Given the description of an element on the screen output the (x, y) to click on. 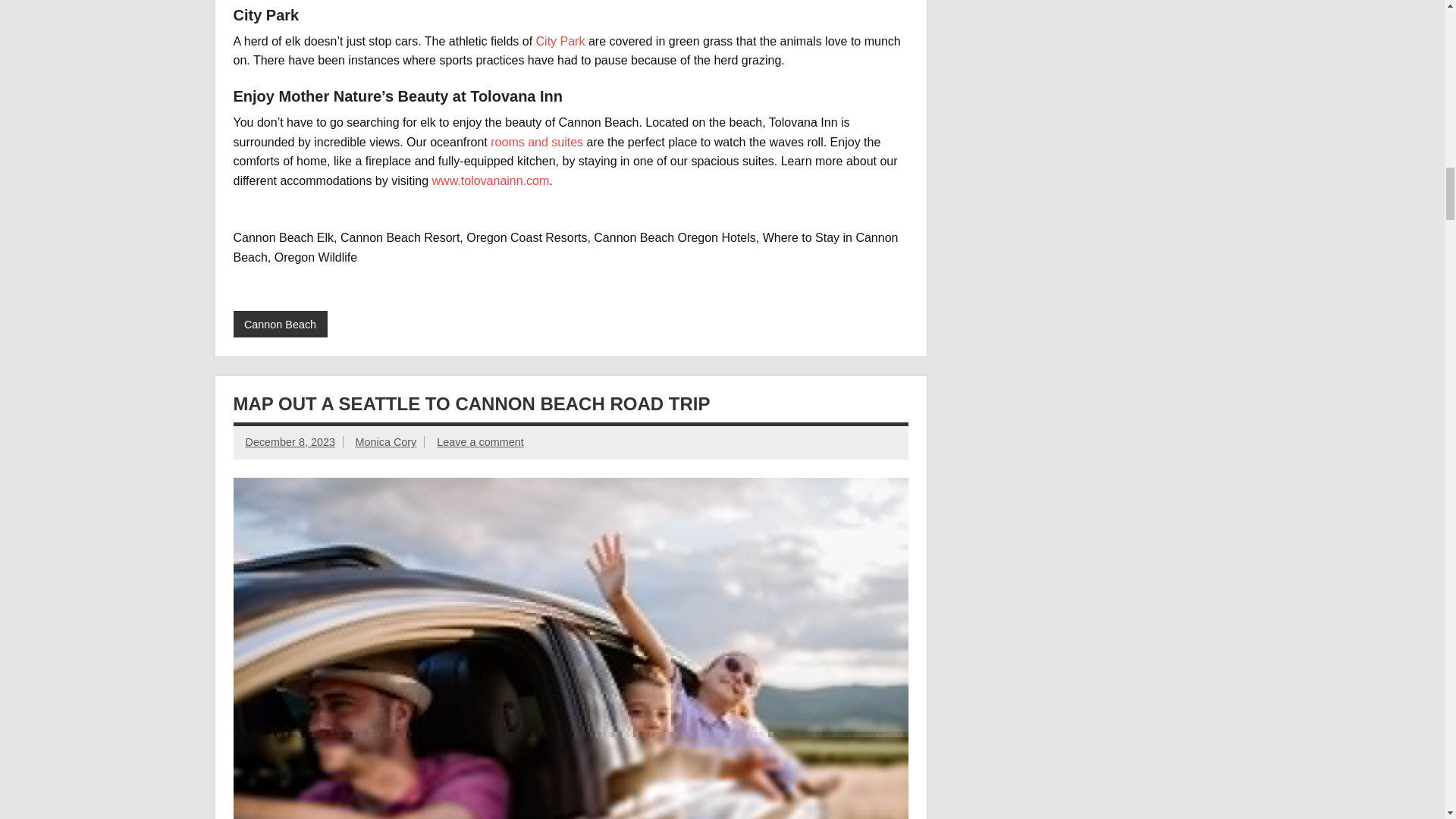
View all posts by Monica Cory (385, 441)
9:13 am (290, 441)
